Given the description of an element on the screen output the (x, y) to click on. 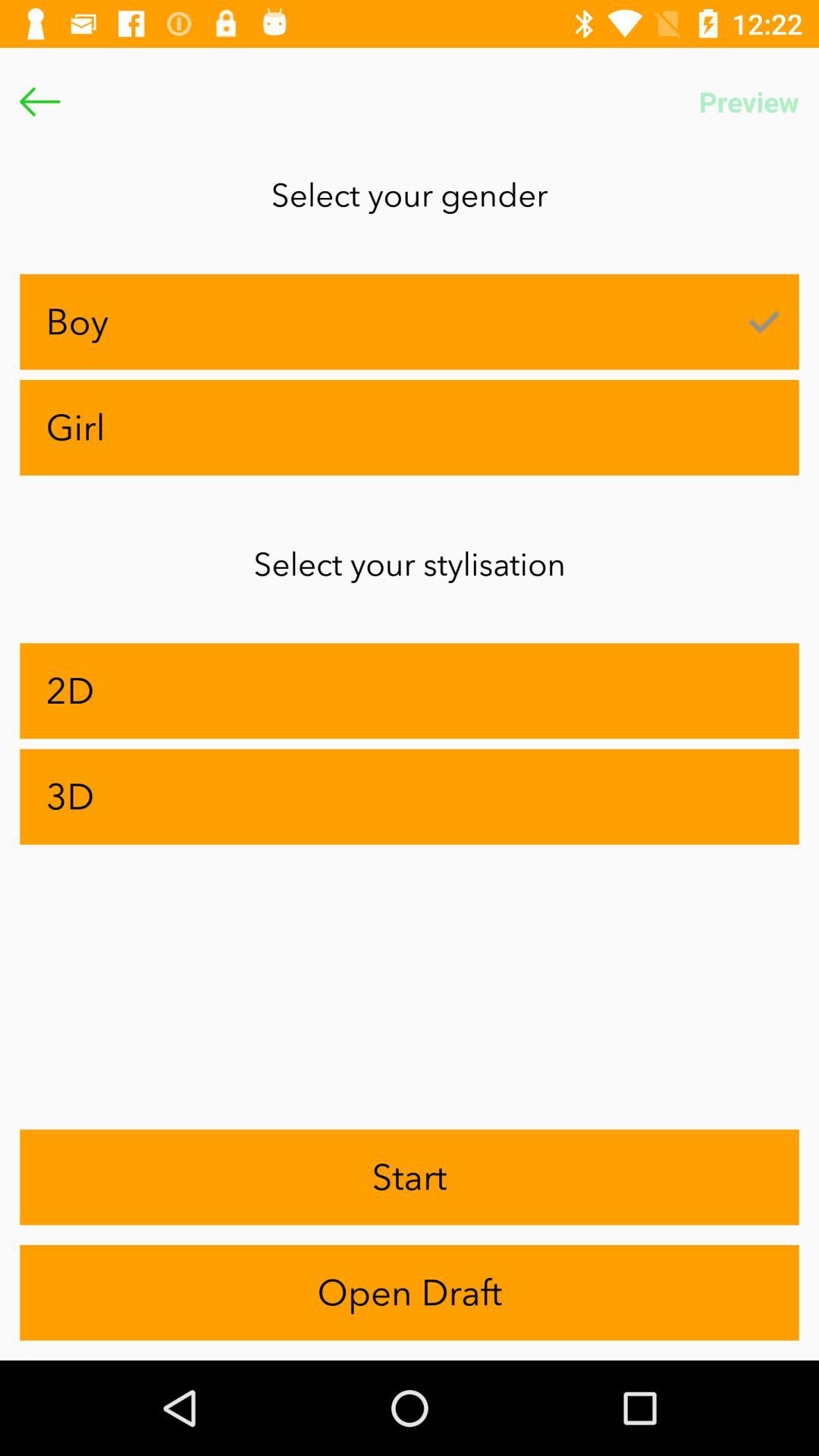
select app below start item (409, 1292)
